Given the description of an element on the screen output the (x, y) to click on. 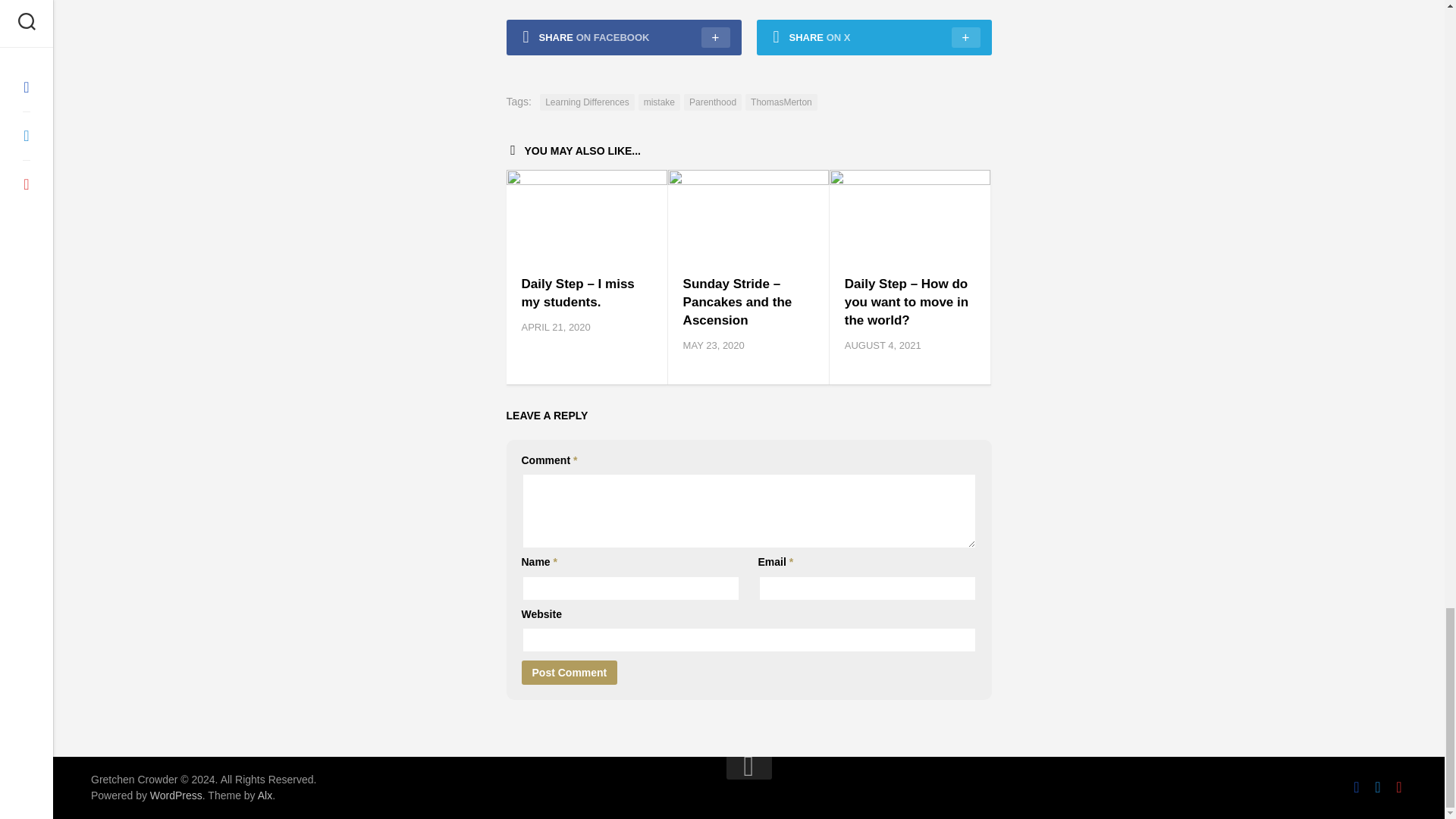
Facebook (1356, 786)
ThomasMerton (780, 102)
Alx (264, 795)
SHARE ON FACEBOOK (623, 37)
SHARE ON X (874, 37)
WordPress (175, 795)
Twitter (1378, 786)
Instagram (1398, 786)
mistake (659, 102)
Parenthood (712, 102)
